Given the description of an element on the screen output the (x, y) to click on. 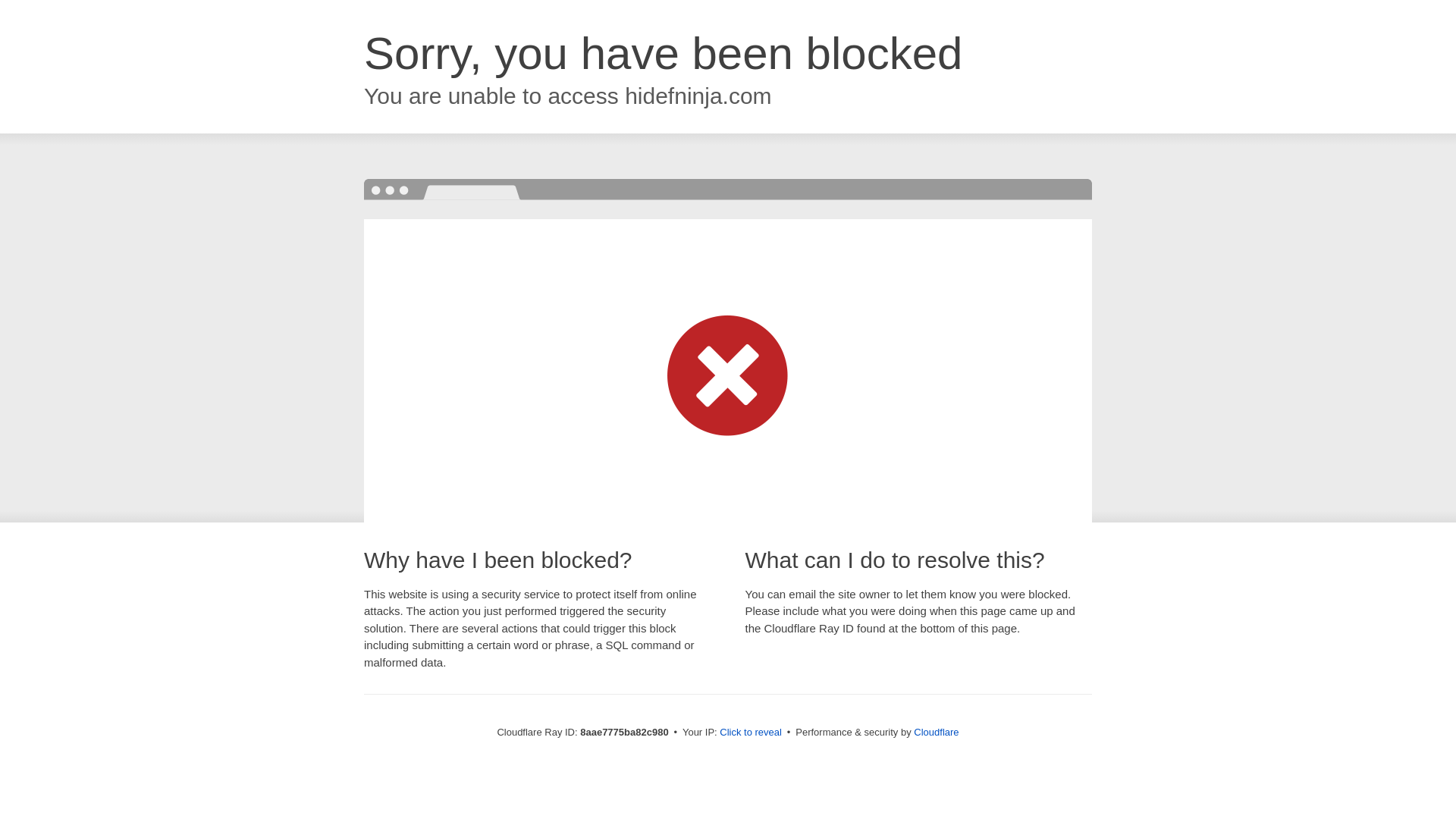
Click to reveal (750, 732)
Cloudflare (936, 731)
